Given the description of an element on the screen output the (x, y) to click on. 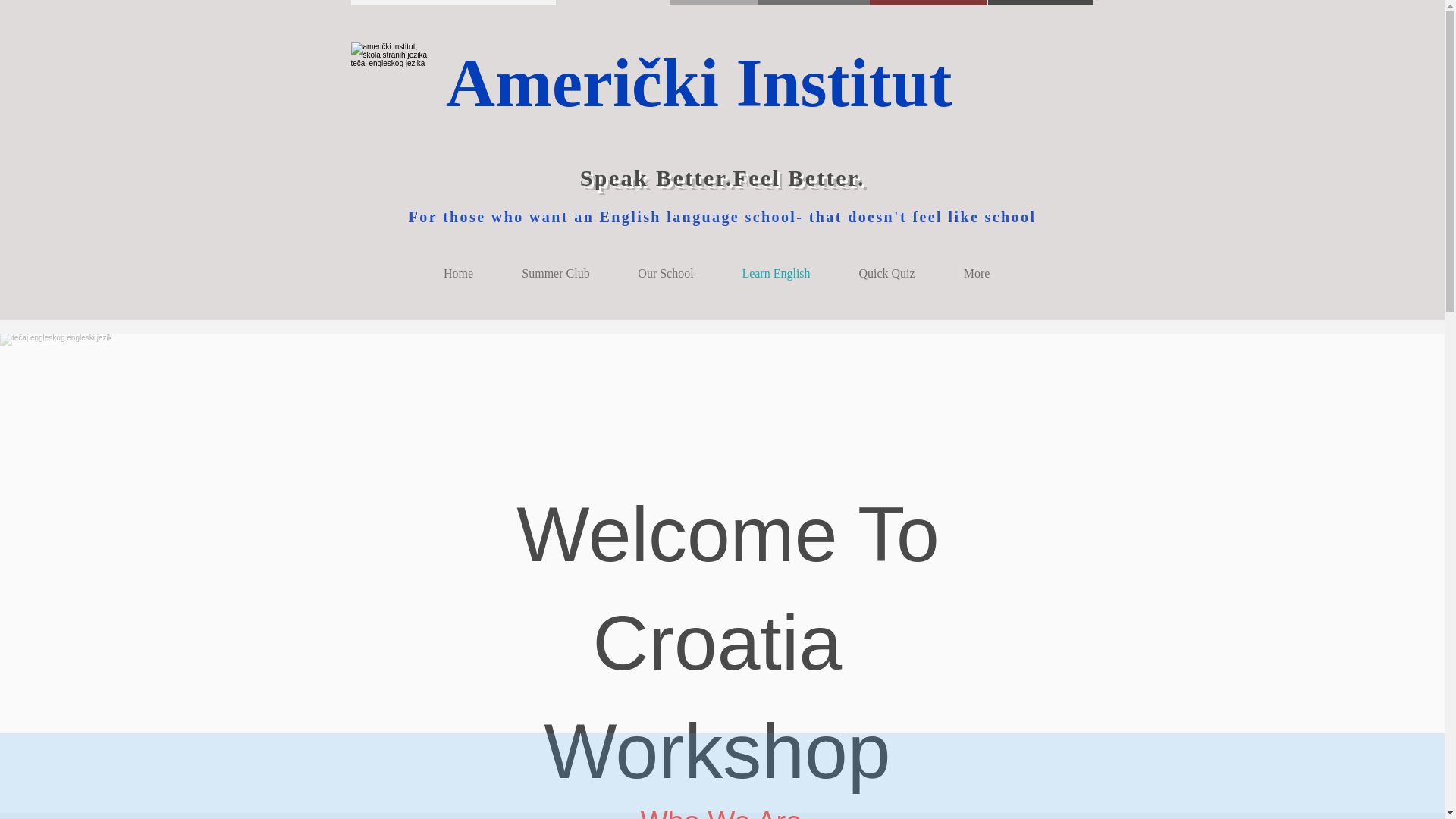
Learn English (775, 273)
Summer Club (554, 273)
Quick Quiz (886, 273)
Home (458, 273)
Our School (665, 273)
